Given the description of an element on the screen output the (x, y) to click on. 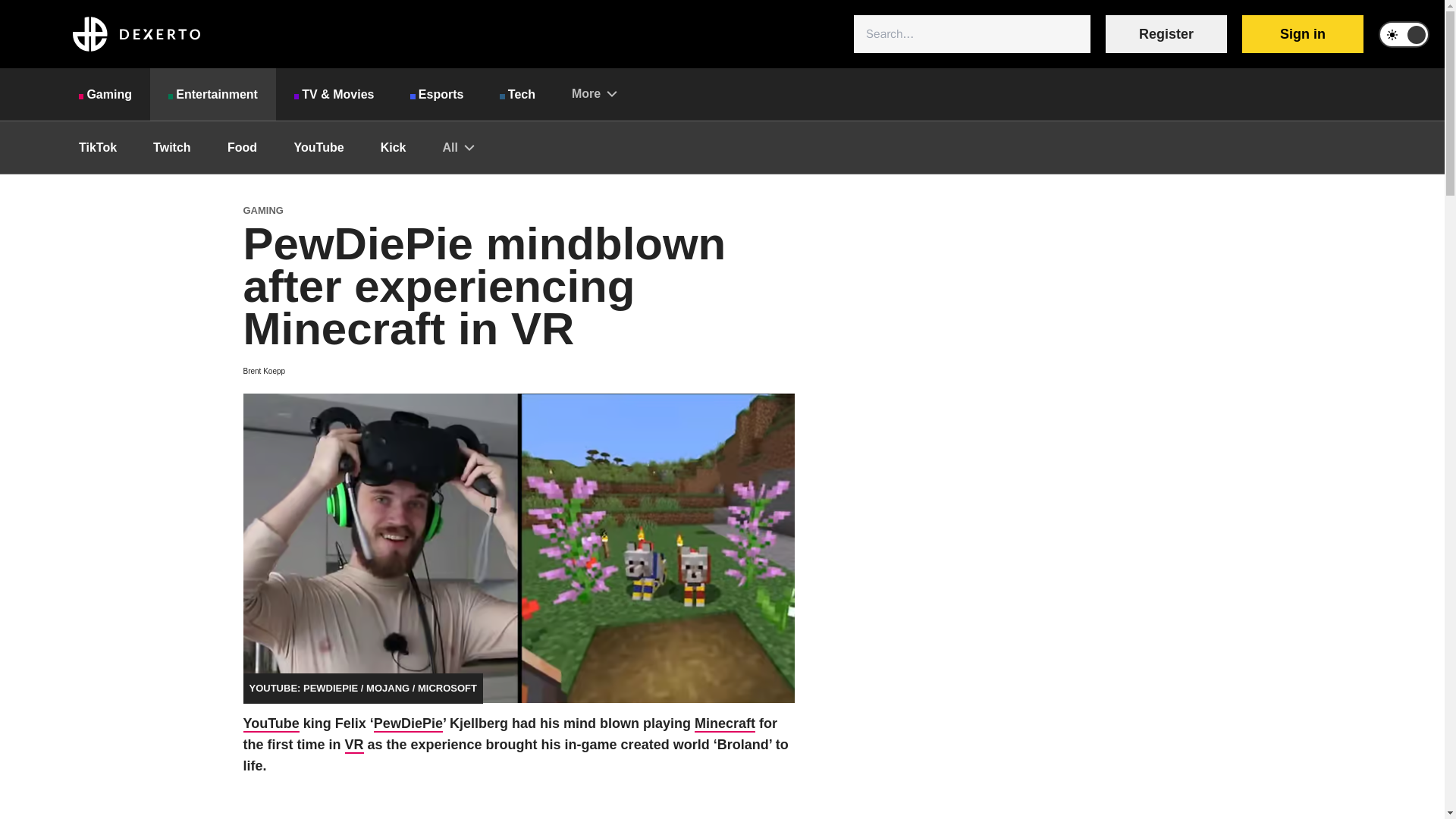
Gaming (105, 93)
Twitch (171, 147)
TikTok (98, 147)
Food (242, 147)
Register (1166, 34)
More (593, 93)
Kick (393, 147)
Esports (436, 93)
Entertainment (212, 93)
Sign in (1301, 34)
